Given the description of an element on the screen output the (x, y) to click on. 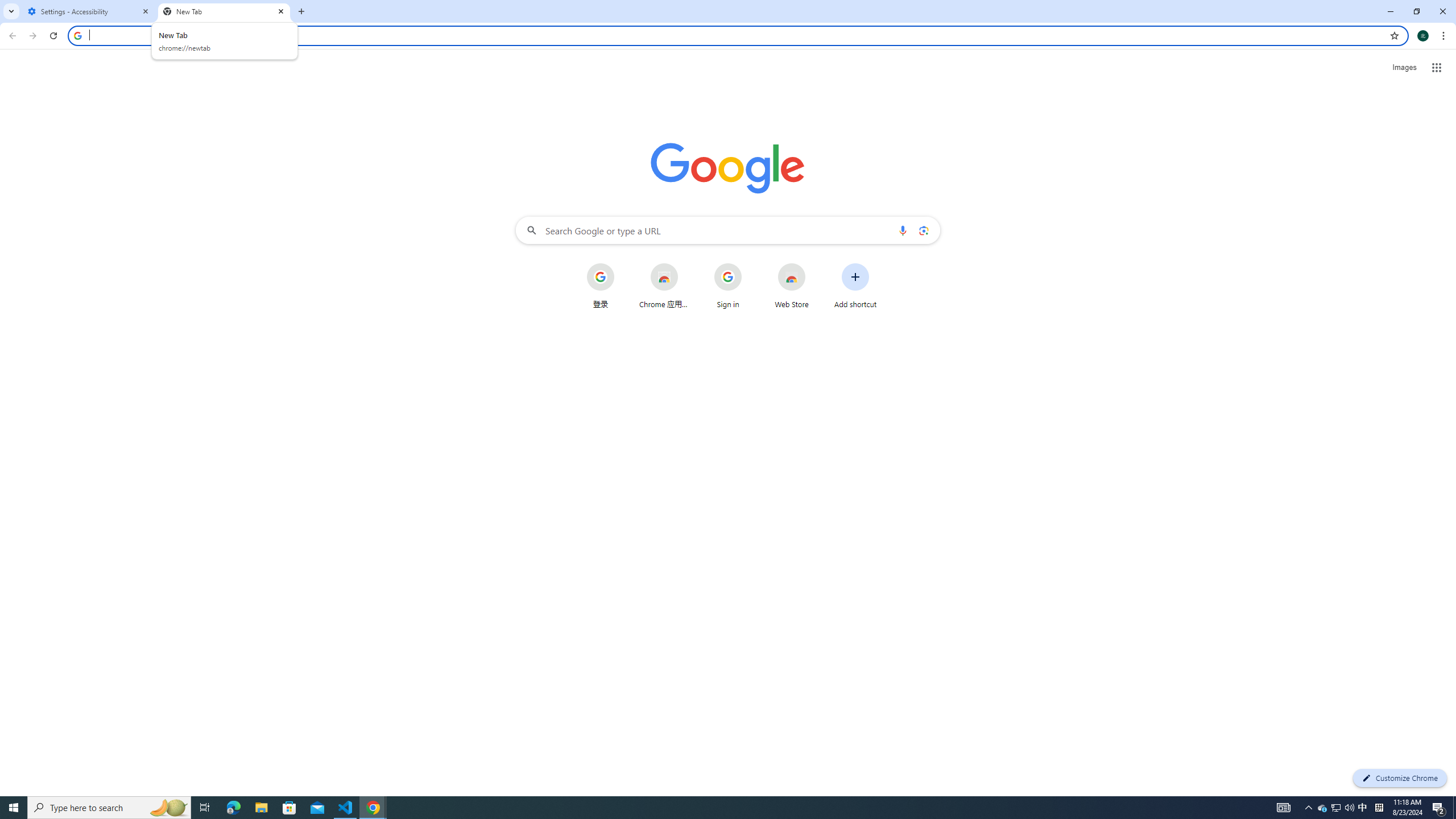
More actions for Web Store shortcut (814, 264)
New Tab (224, 11)
Web Store (792, 285)
Search by image (922, 230)
Customize Chrome (1399, 778)
More actions for Sign in shortcut (750, 264)
Search Google or type a URL (727, 230)
Search for Images  (1403, 67)
